Given the description of an element on the screen output the (x, y) to click on. 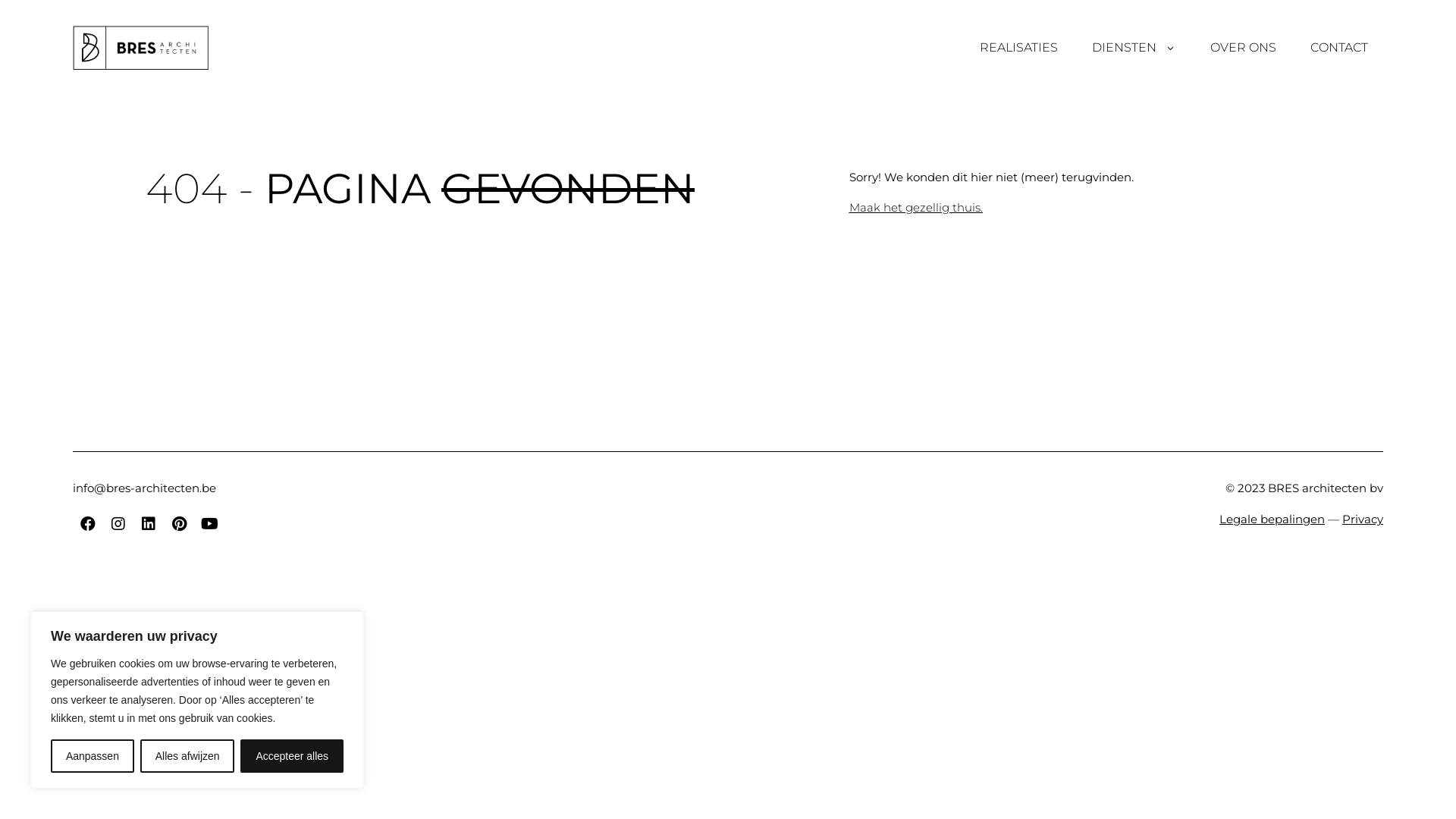
Legale bepalingen Element type: text (1271, 518)
Maak het gezellig thuis. Element type: text (915, 207)
Alles afwijzen Element type: text (187, 755)
DIENSTEN Element type: text (1133, 47)
REALISATIES Element type: text (1018, 47)
Aanpassen Element type: text (92, 755)
Privacy Element type: text (1362, 518)
OVER ONS Element type: text (1243, 47)
Accepteer alles Element type: text (291, 755)
CONTACT Element type: text (1339, 47)
